Given the description of an element on the screen output the (x, y) to click on. 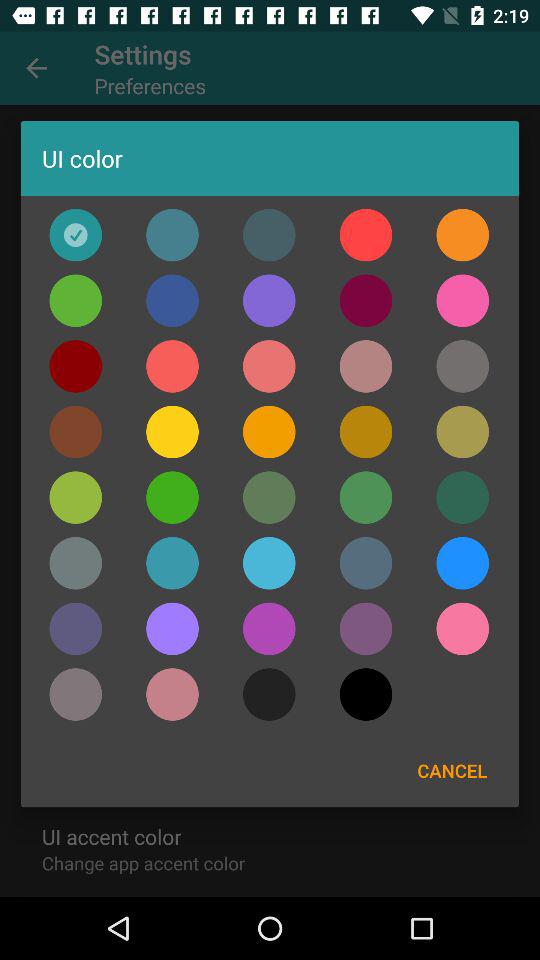
select blue-green ui color (365, 497)
